Given the description of an element on the screen output the (x, y) to click on. 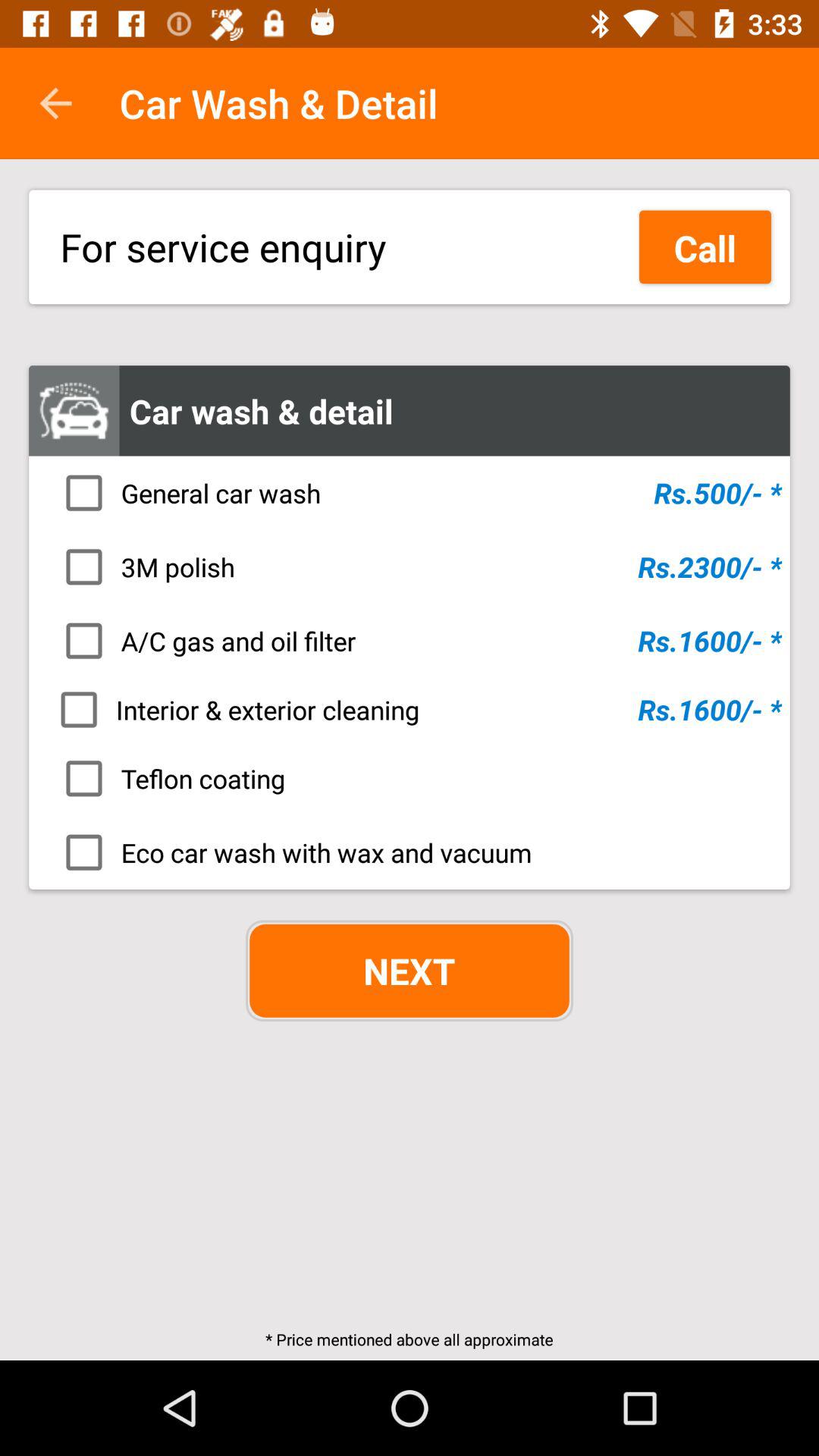
open the item above the teflon coating (414, 709)
